Given the description of an element on the screen output the (x, y) to click on. 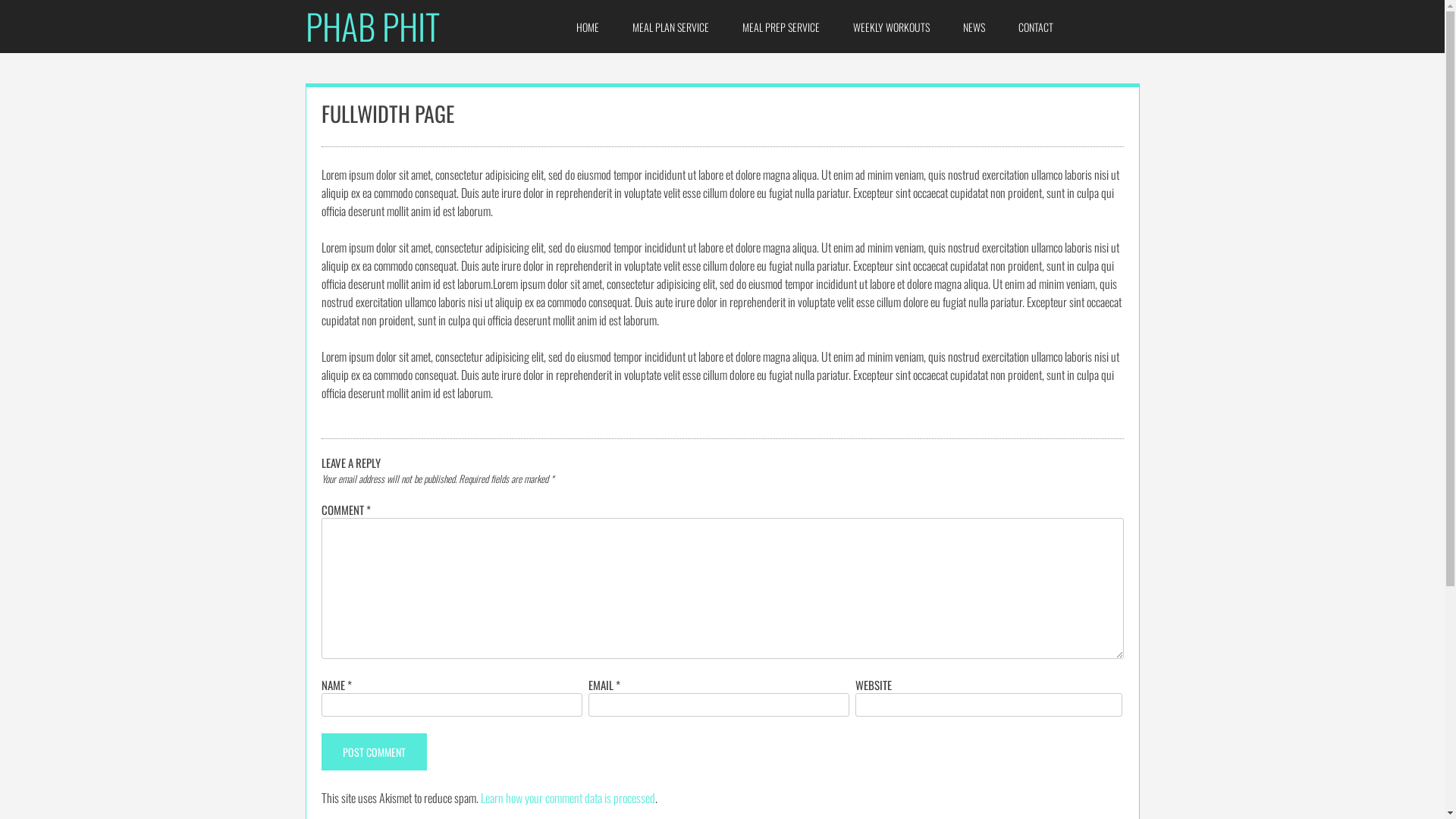
CONTACT Element type: text (1035, 26)
Learn how your comment data is processed Element type: text (567, 797)
HOME Element type: text (587, 26)
NEWS Element type: text (973, 26)
MEAL PLAN SERVICE Element type: text (670, 26)
WEEKLY WORKOUTS Element type: text (891, 26)
Post Comment Element type: text (373, 751)
PHAB PHIT Element type: text (371, 25)
MEAL PREP SERVICE Element type: text (780, 26)
